Given the description of an element on the screen output the (x, y) to click on. 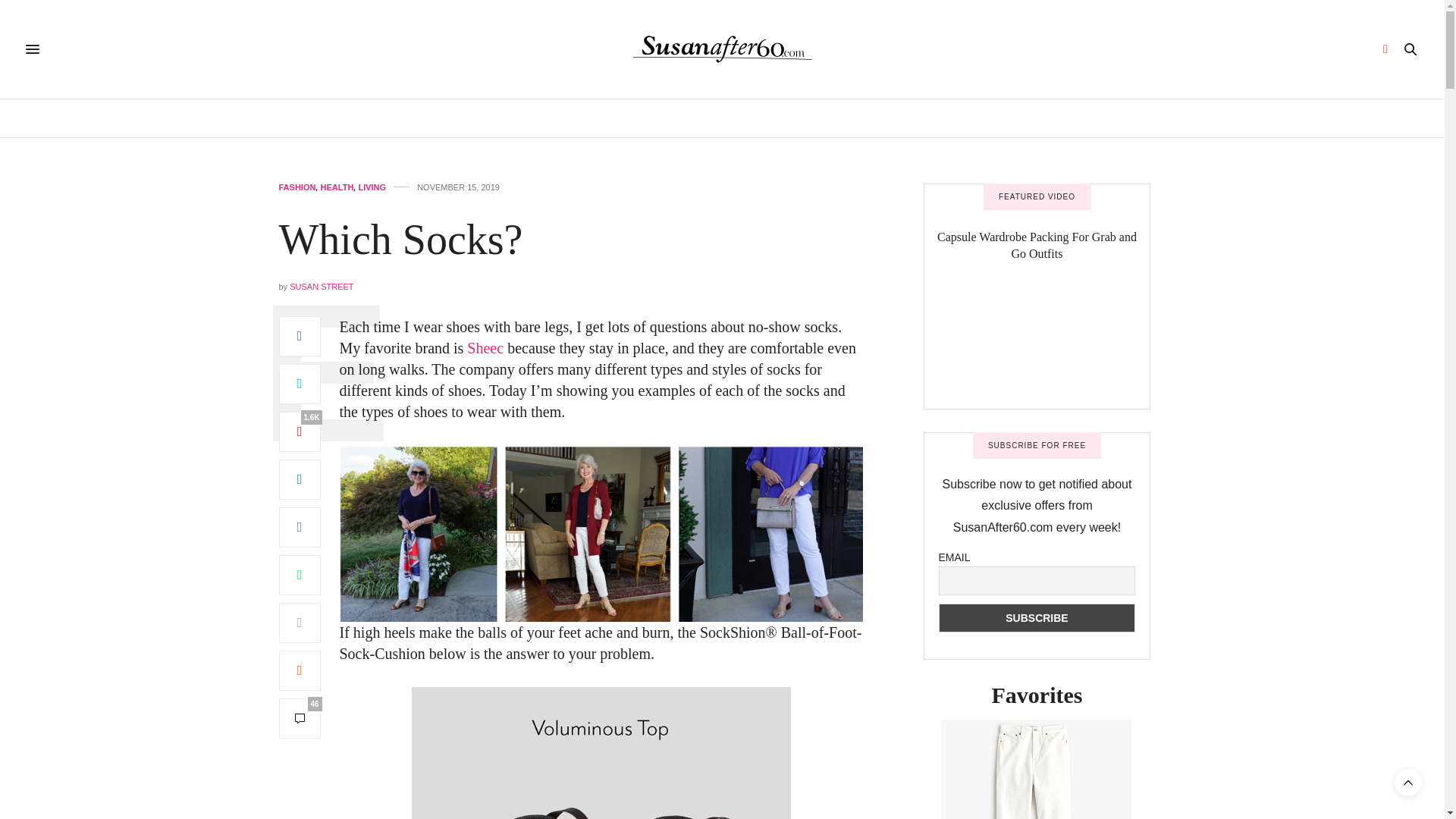
Posts by Susan Street (321, 286)
OUTFITS (951, 118)
SusanAfter60.com (721, 49)
BEAUTY (662, 118)
46 (299, 718)
Capsule Wardrobe Packing For Grab And Go Outfits (1036, 344)
Subscribe (1037, 617)
LIVING (371, 187)
CONTACT (1018, 118)
FASHION (834, 118)
